Given the description of an element on the screen output the (x, y) to click on. 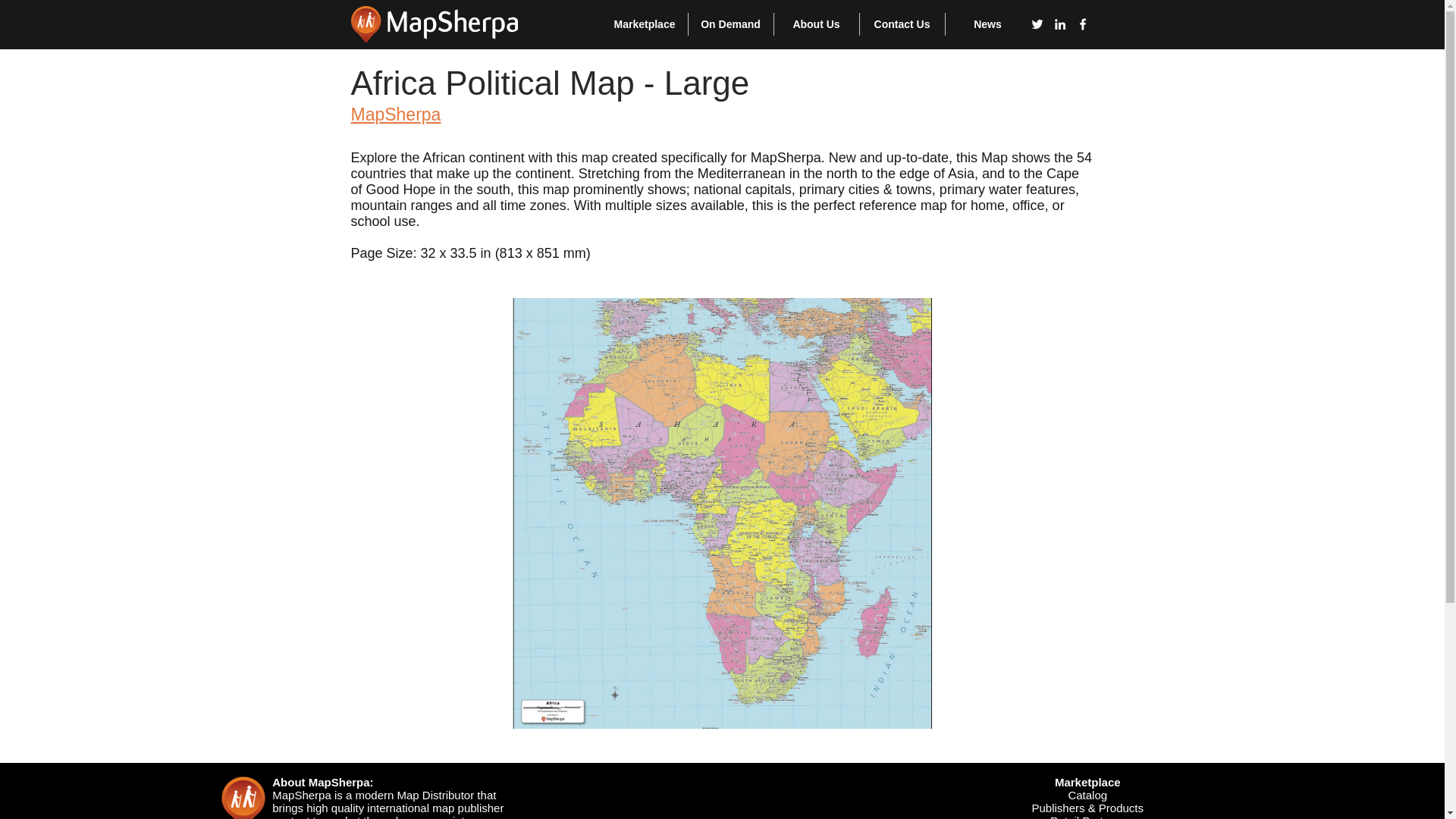
Contact Us (902, 24)
Retail Partners (1087, 816)
Catalog (1086, 794)
News (986, 24)
